Given the description of an element on the screen output the (x, y) to click on. 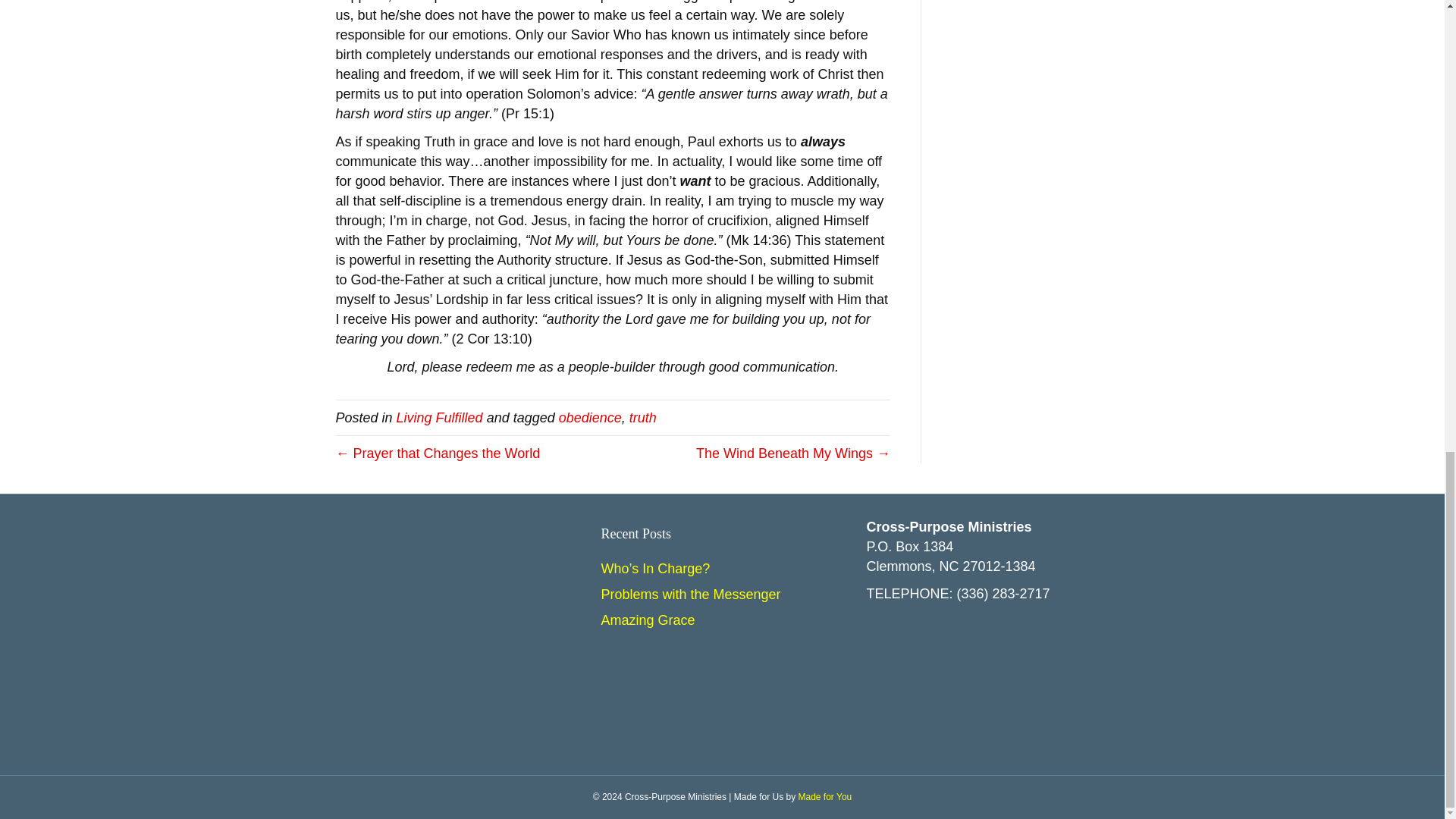
Websites, Video and Marketing Automation (824, 796)
truth (642, 417)
Living Fulfilled (439, 417)
obedience (590, 417)
